Given the description of an element on the screen output the (x, y) to click on. 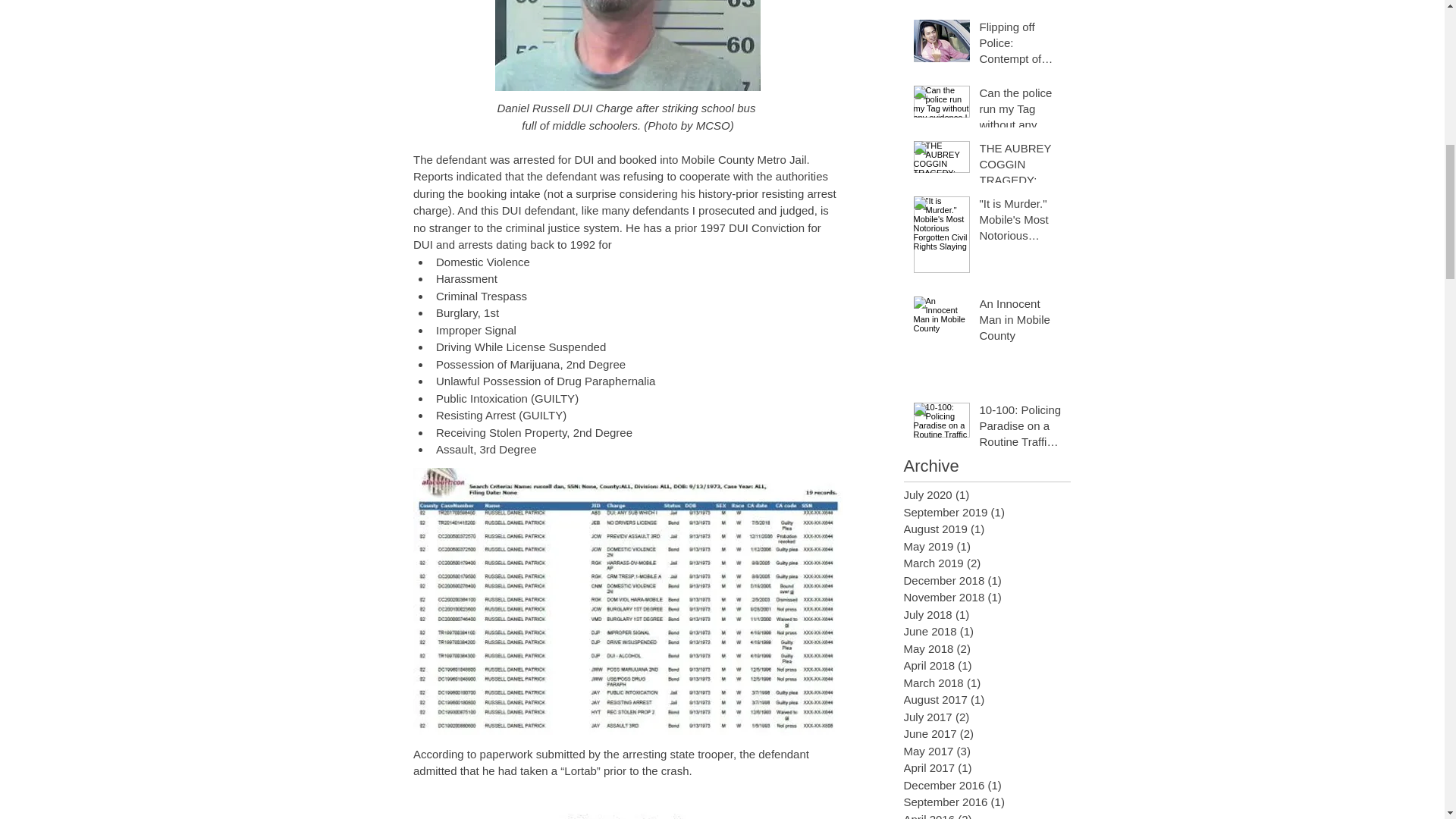
An Innocent Man in Mobile County (1020, 322)
Flipping off Police: Contempt of Cop or Free Speech? (1020, 45)
